Given the description of an element on the screen output the (x, y) to click on. 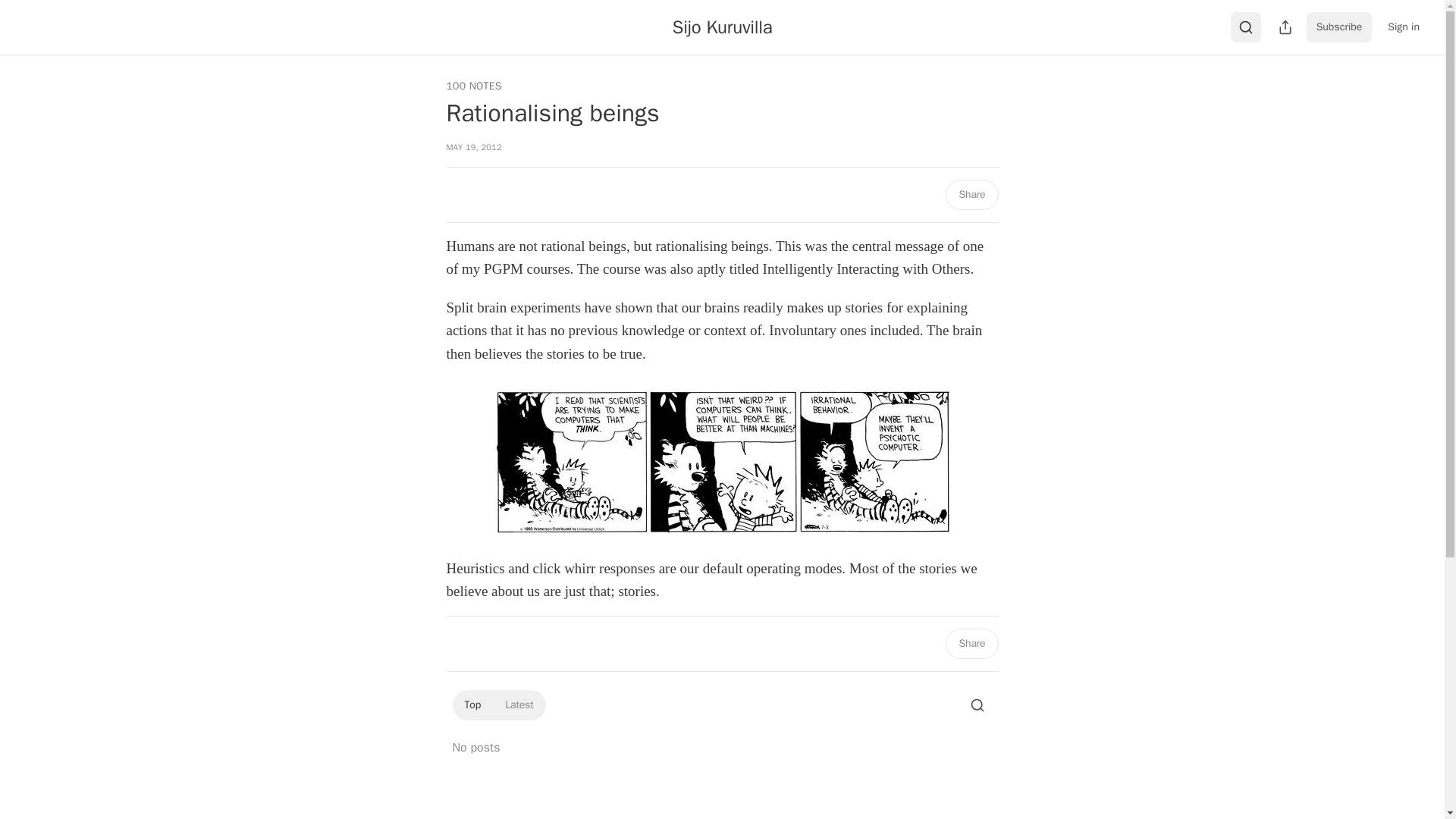
Sijo Kuruvilla (722, 26)
100 NOTES (472, 86)
Share (970, 194)
Top (471, 704)
Subscribe (1339, 27)
Latest (518, 704)
Share (970, 643)
Sign in (1403, 27)
